Given the description of an element on the screen output the (x, y) to click on. 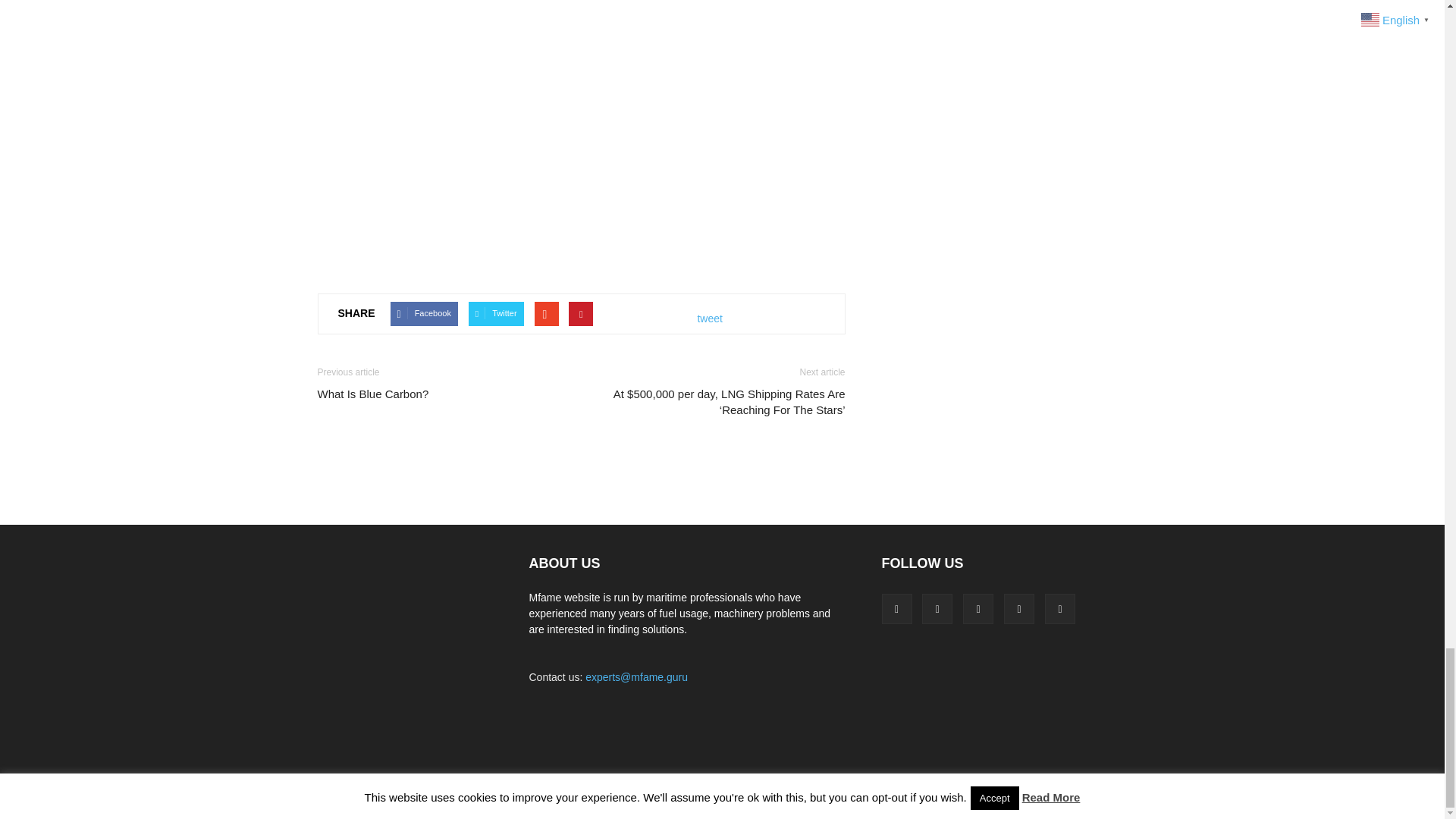
VL1new (580, 173)
